Given the description of an element on the screen output the (x, y) to click on. 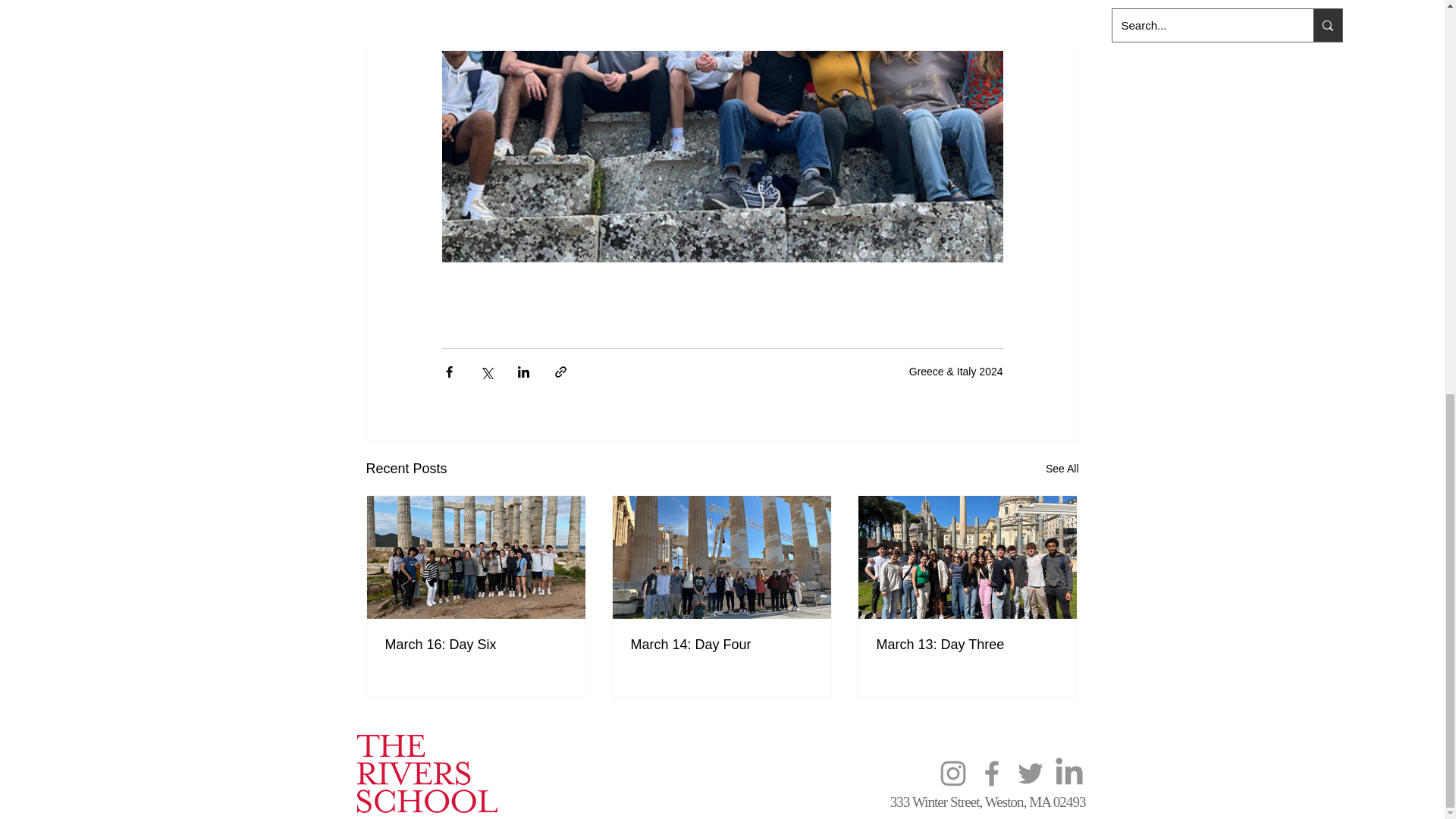
March 14: Day Four (721, 644)
March 16: Day Six (476, 644)
See All (1061, 468)
March 13: Day Three (967, 644)
